Given the description of an element on the screen output the (x, y) to click on. 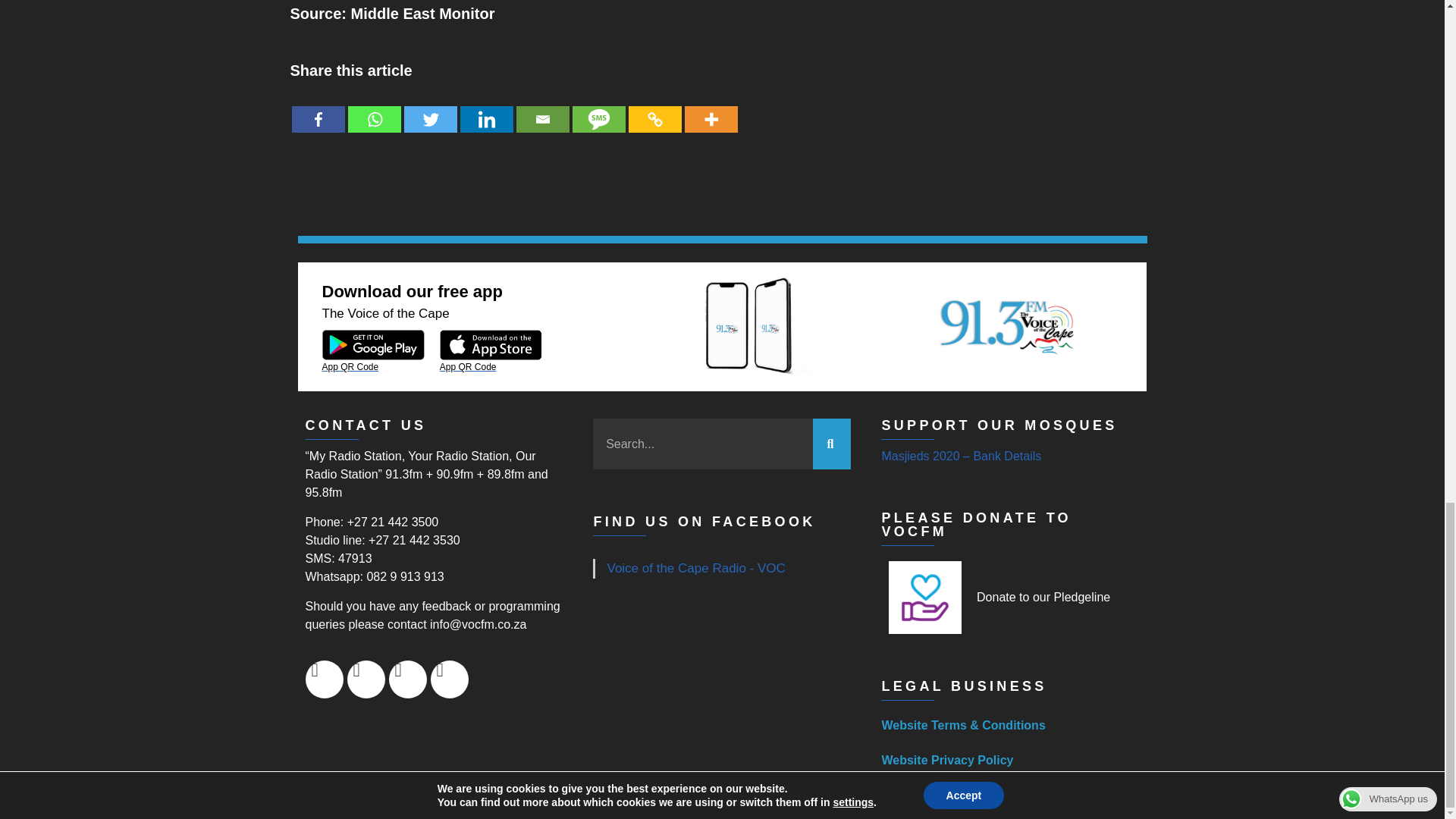
Facebook (317, 108)
Email (542, 108)
Linkedin (486, 108)
Whatsapp (373, 108)
SMS (598, 108)
Twitter (430, 108)
